Given the description of an element on the screen output the (x, y) to click on. 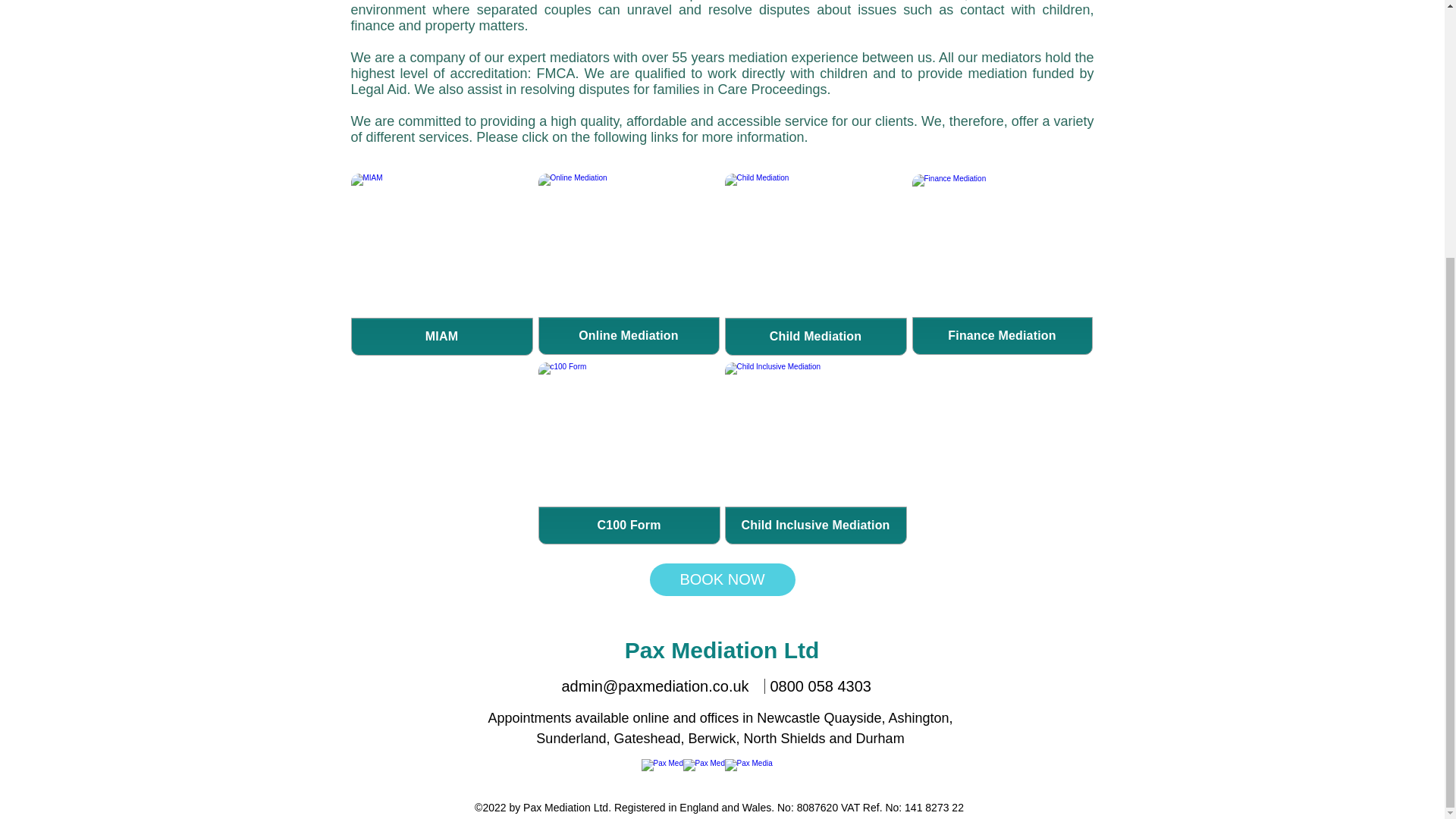
Online MIAM (816, 264)
Family Mediation (629, 453)
Legal advice (628, 264)
Online mediation (1002, 264)
Family Mediation (816, 453)
Family Mediation (441, 264)
